Given the description of an element on the screen output the (x, y) to click on. 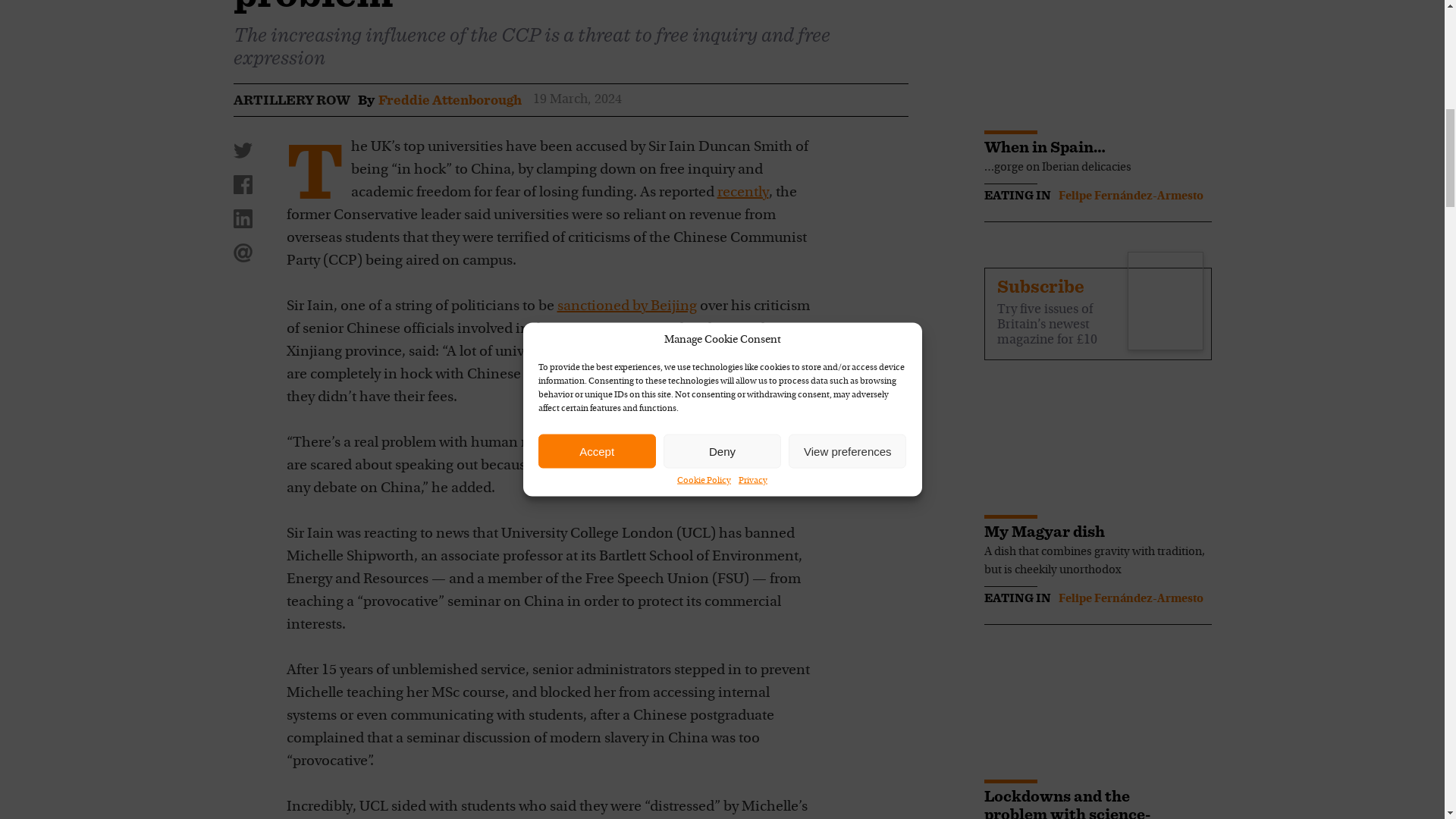
sanctioned by Beijing (625, 305)
Posts by Freddie Attenborough (449, 99)
ARTILLERY ROW (291, 99)
Freddie Attenborough (449, 99)
recently (742, 192)
